Given the description of an element on the screen output the (x, y) to click on. 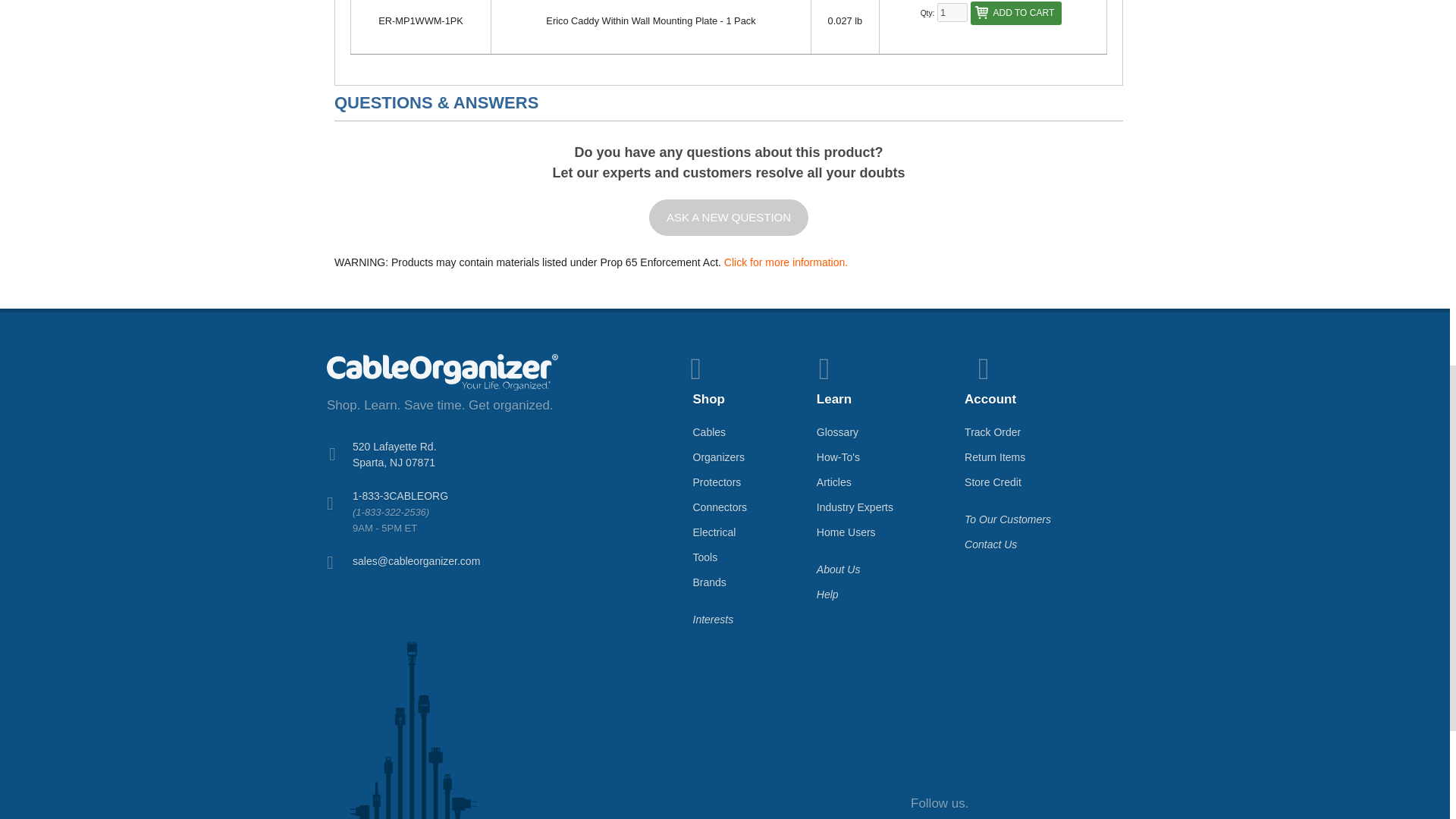
1 (952, 12)
Add to Cart (1016, 13)
